Given the description of an element on the screen output the (x, y) to click on. 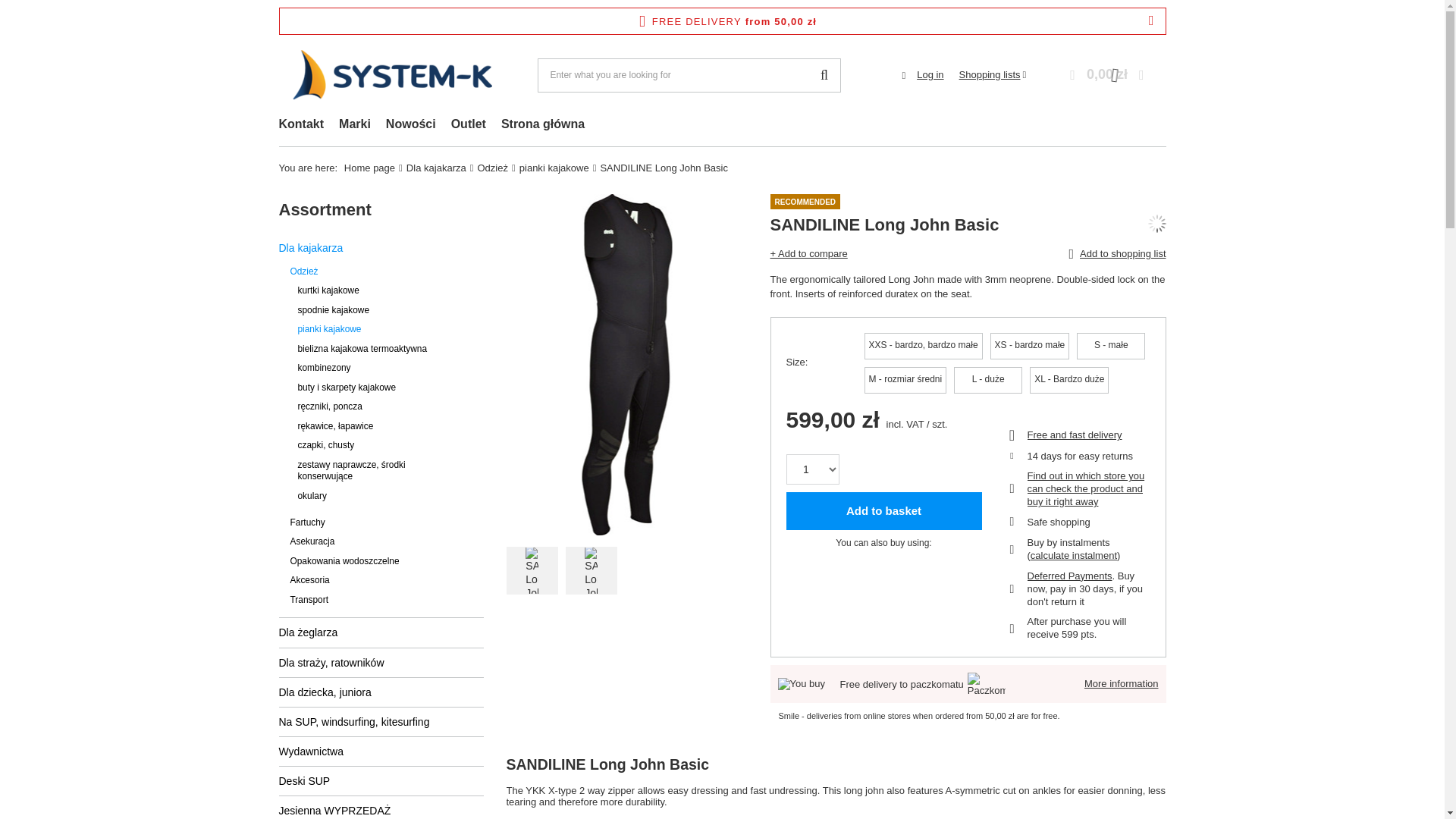
Outlet (468, 125)
Wydawnictwa (381, 751)
Dla kajakarza (381, 247)
Deski SUP (381, 780)
Marki (354, 125)
Log in (930, 74)
Outlet (468, 125)
Kontakt (300, 125)
Home page (368, 167)
Dla kajakarza (435, 167)
